Given the description of an element on the screen output the (x, y) to click on. 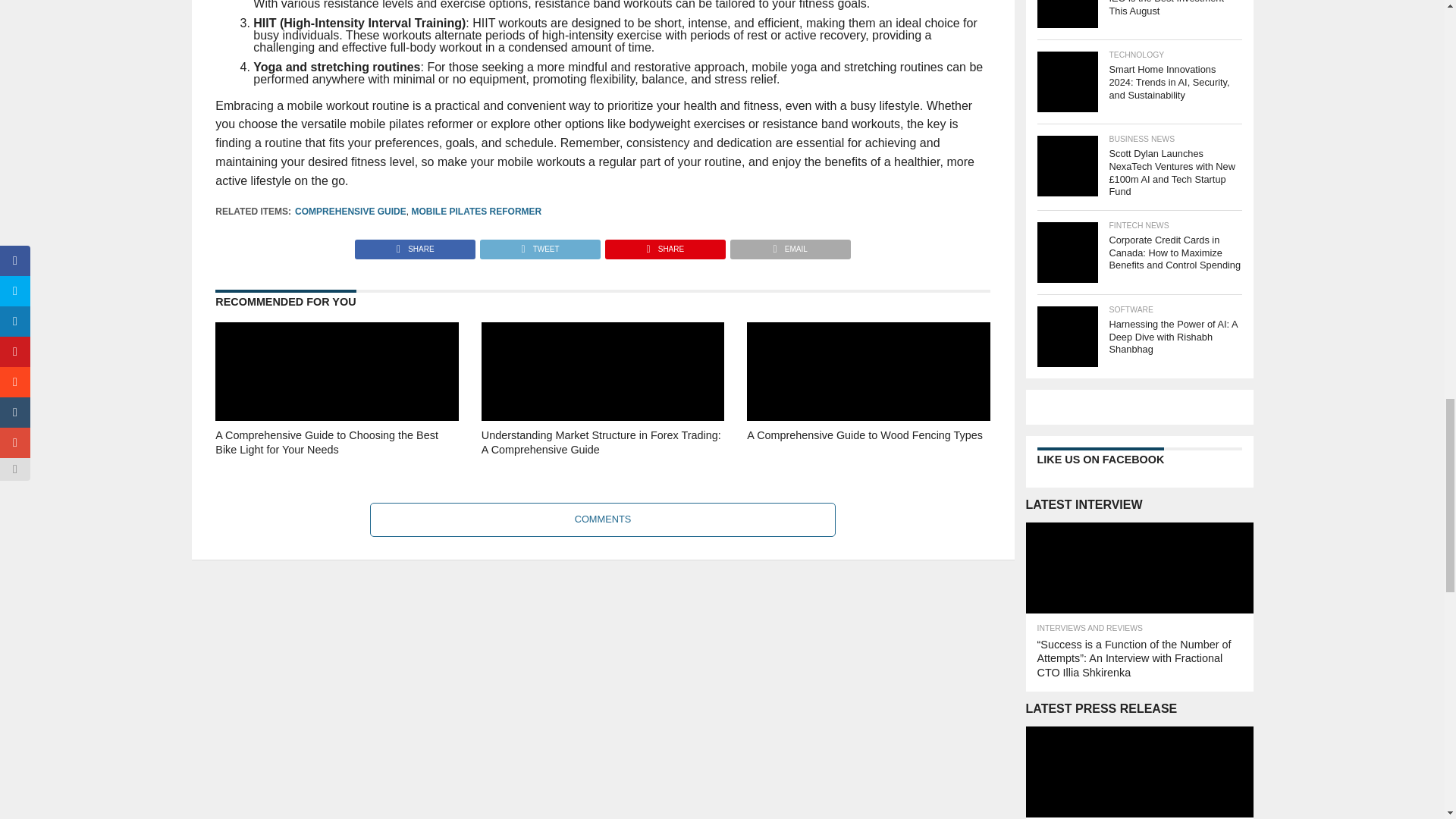
Share on Facebook (415, 245)
Pin This Post (664, 245)
Tweet This Post (539, 245)
A Comprehensive Guide to Wood Fencing Types (868, 463)
